Given the description of an element on the screen output the (x, y) to click on. 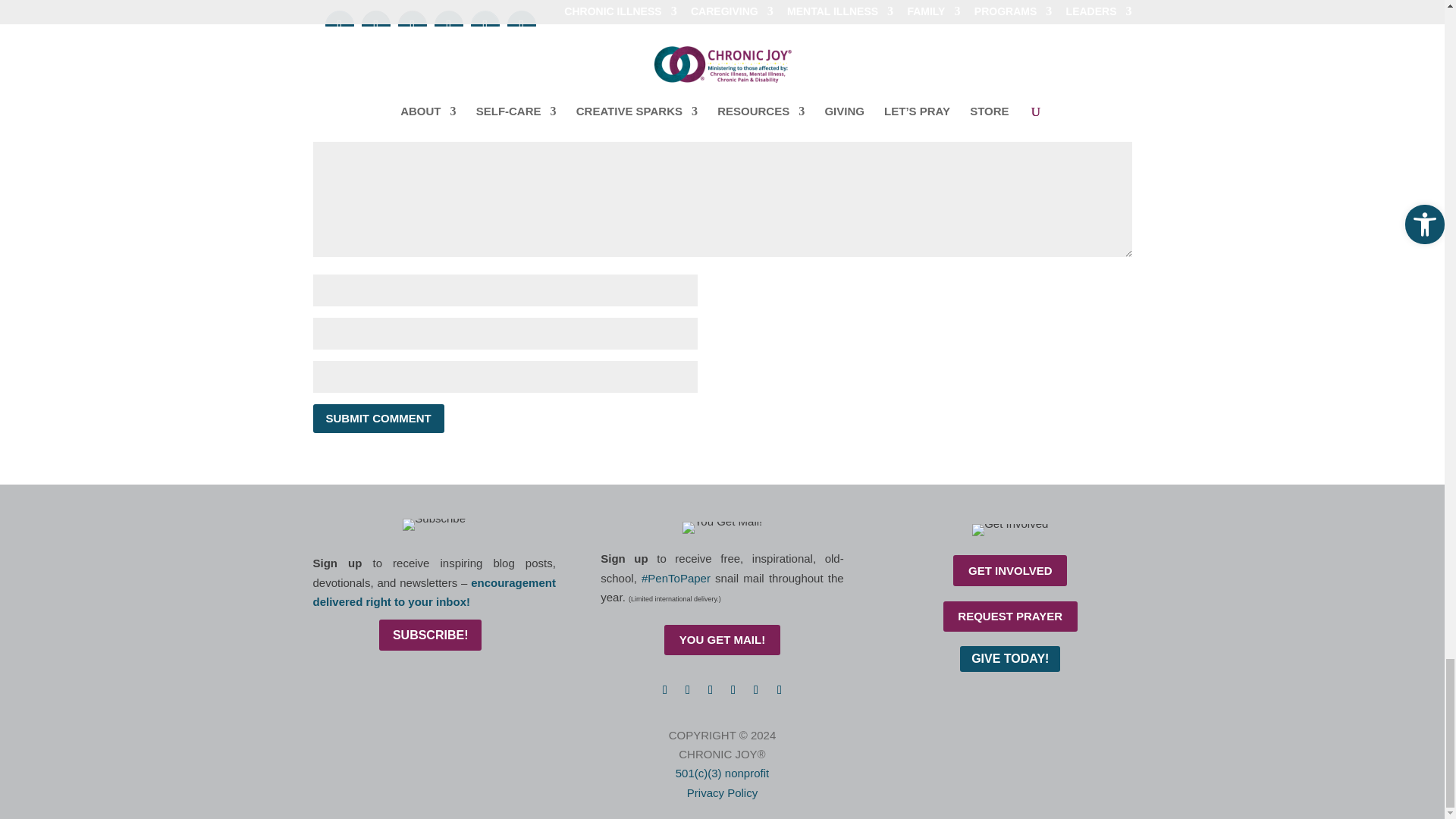
Follow on Pinterest (732, 689)
Follow on Facebook (664, 689)
Follow on Flickr (779, 689)
Follow on Instagram (710, 689)
Follow on Twitter (687, 689)
Follow on Youtube (756, 689)
